Given the description of an element on the screen output the (x, y) to click on. 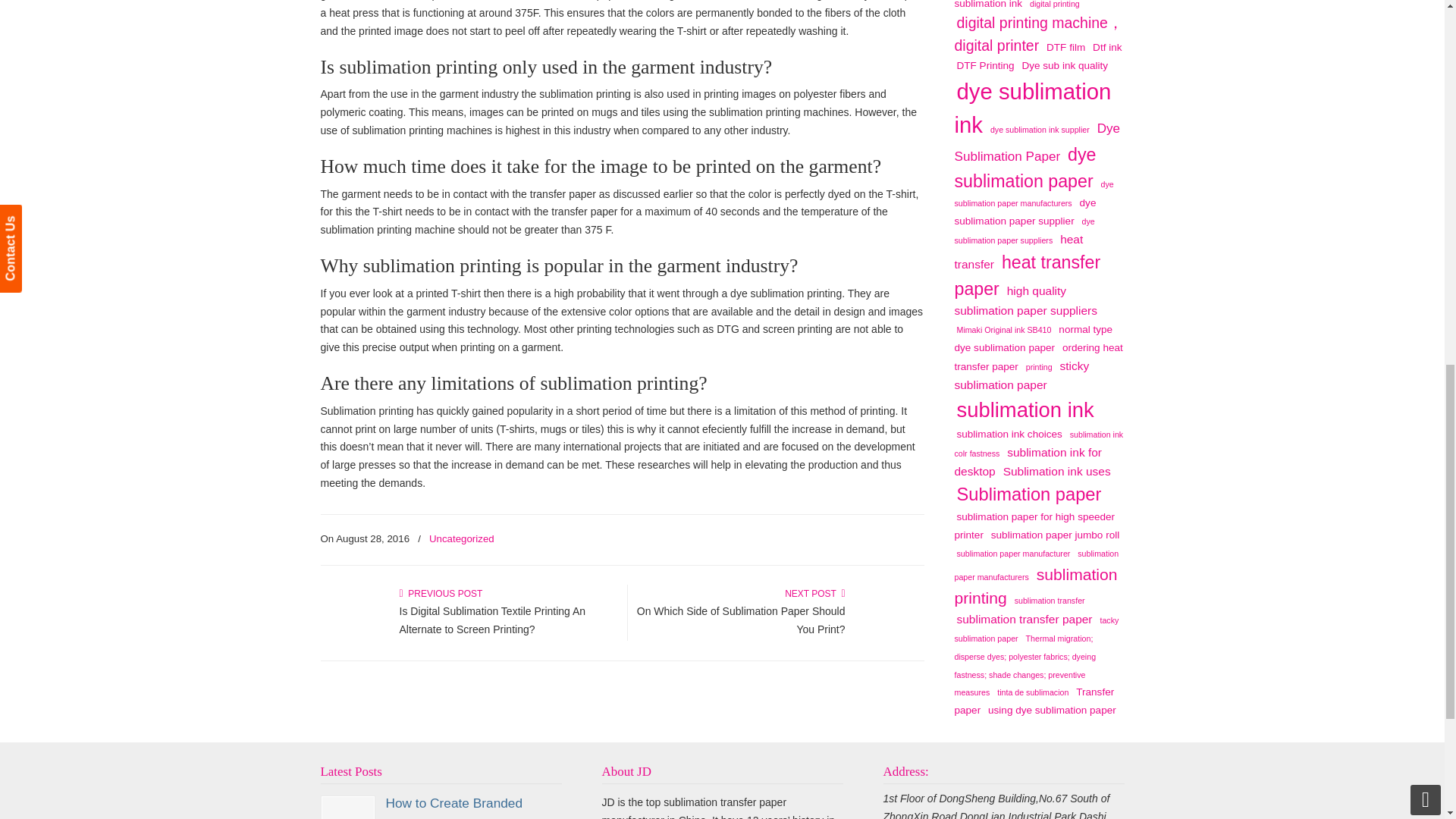
Go to next post (814, 593)
On Which Side of Sublimation Paper Should You Print? (889, 629)
 PREVIOUS POST (439, 593)
On Which Side of Sublimation Paper Should You Print? (741, 620)
How to Create Branded Merch with DTF Printing (455, 807)
On Which Side of Sublimation Paper Should You Print? (741, 620)
How to Create Branded Merch with DTF Printing (346, 809)
Go to previous post (439, 593)
NEXT POST   (814, 593)
Uncategorized (462, 538)
